Given the description of an element on the screen output the (x, y) to click on. 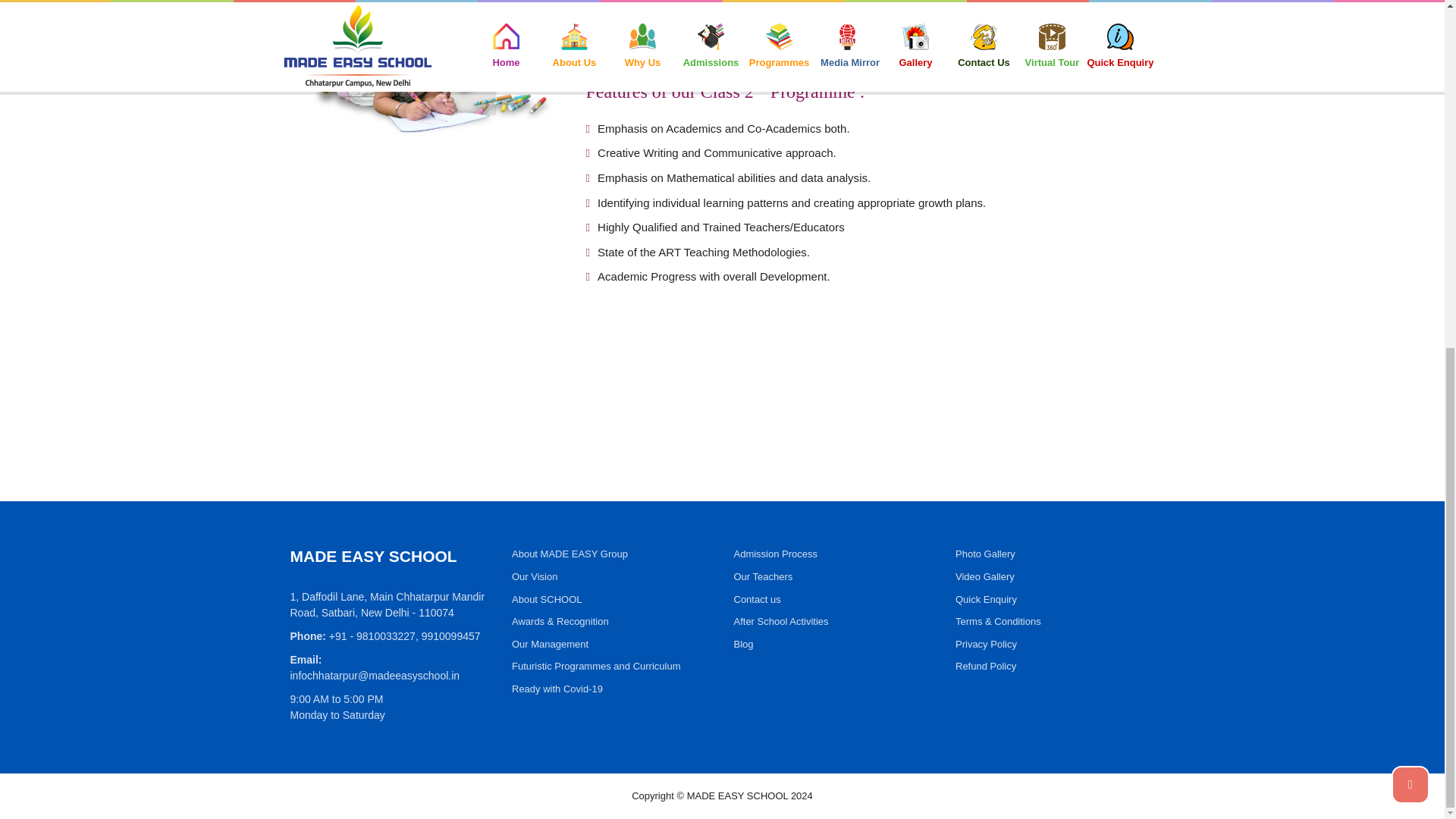
Our Vision (534, 576)
About SCHOOL (547, 599)
About MADE EASY Group (569, 553)
